Given the description of an element on the screen output the (x, y) to click on. 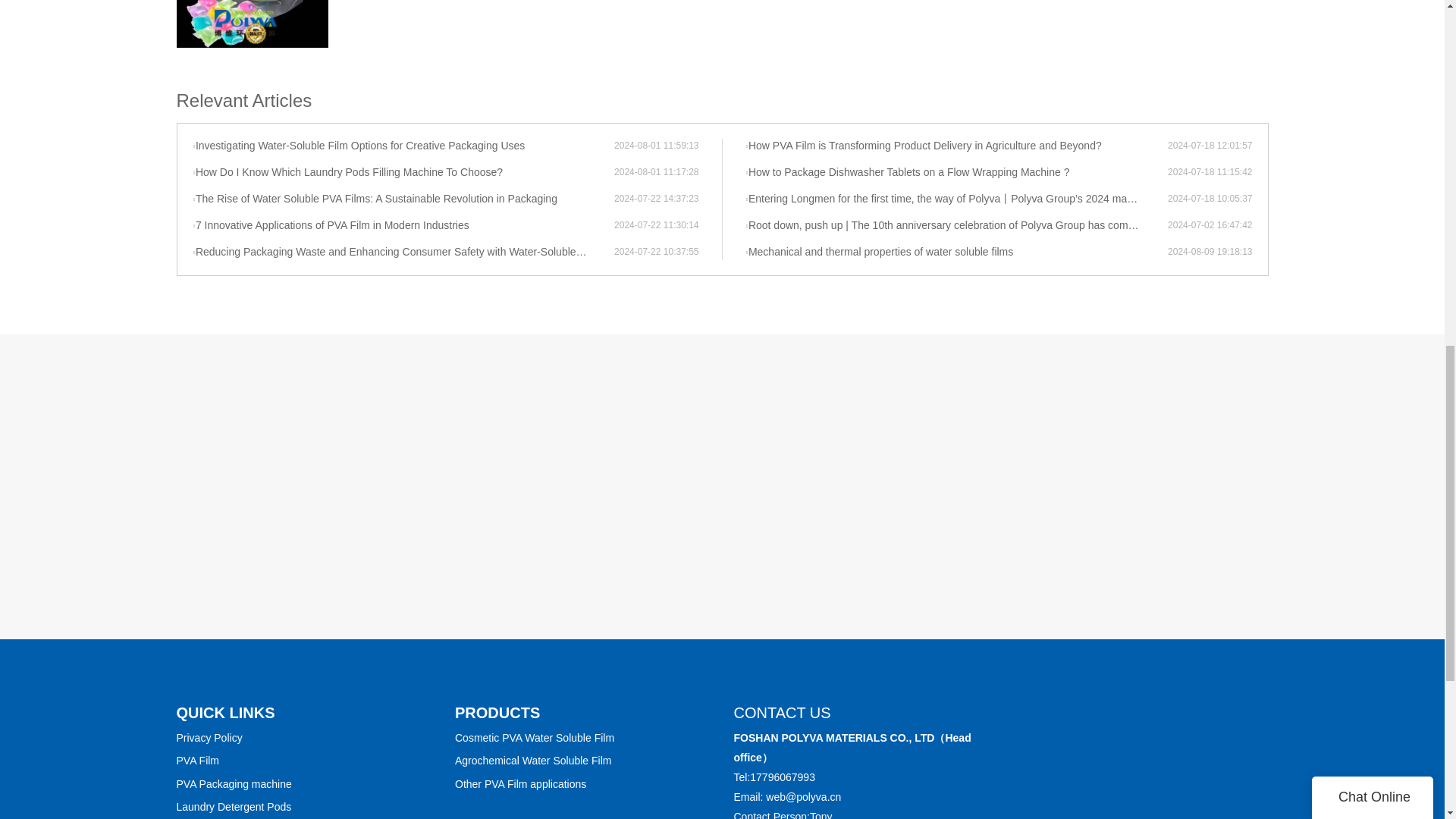
How Do I Know Which Laundry Pods Filling Machine To Choose? (403, 172)
Mechanical and thermal properties of water soluble films (955, 252)
7 Innovative Applications of PVA Film in Modern Industries (403, 225)
